Given the description of an element on the screen output the (x, y) to click on. 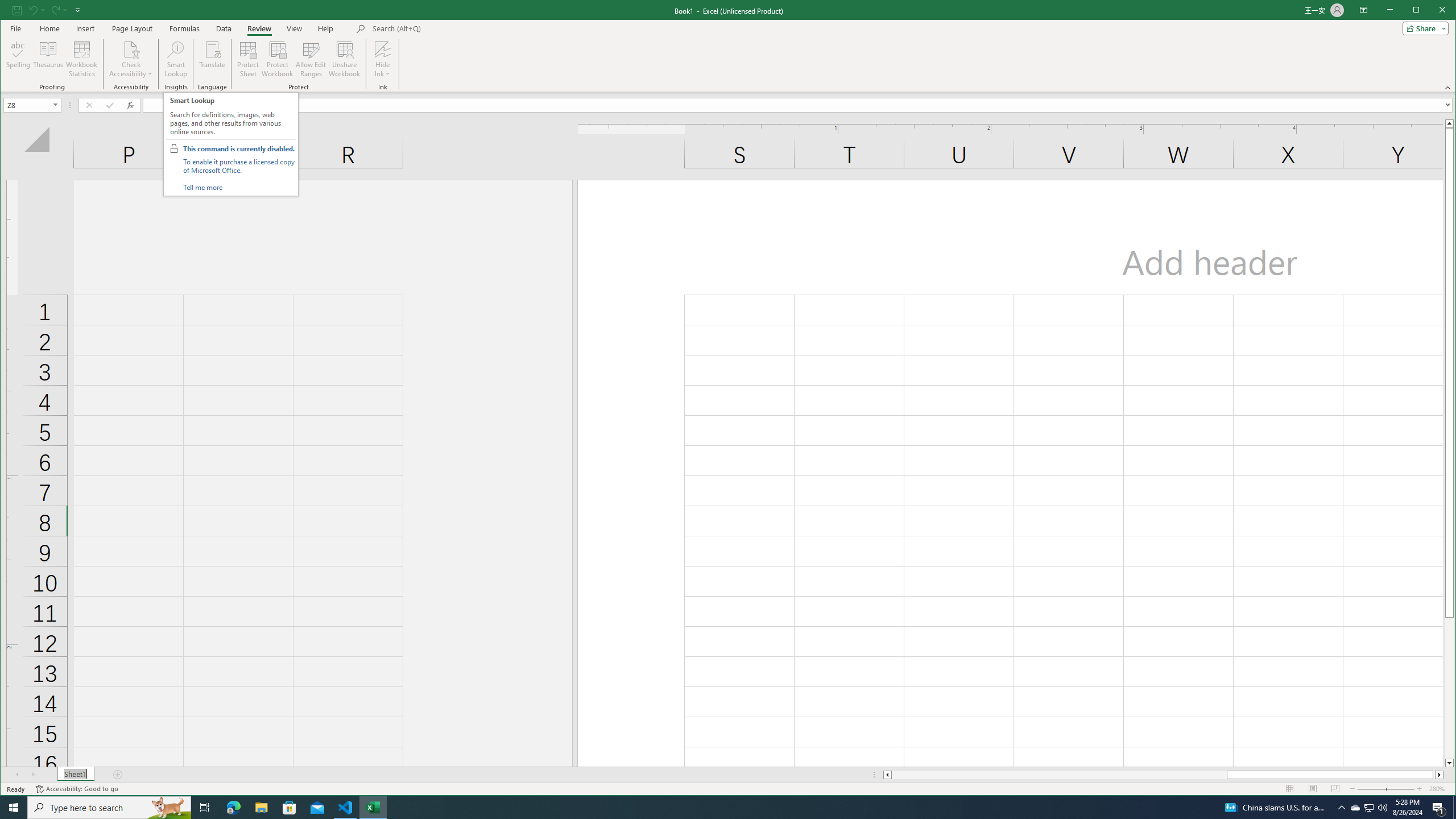
Hide Ink (382, 59)
Class: NetUIScrollBar (1163, 774)
Page Break Preview (1334, 788)
Save (16, 9)
Workbook Statistics (82, 59)
Check Accessibility (130, 59)
Collapse the Ribbon (1448, 87)
Microsoft Edge (233, 807)
Accessibility Checker Accessibility: Good to go (76, 788)
Q2790: 100% (1382, 807)
